Given the description of an element on the screen output the (x, y) to click on. 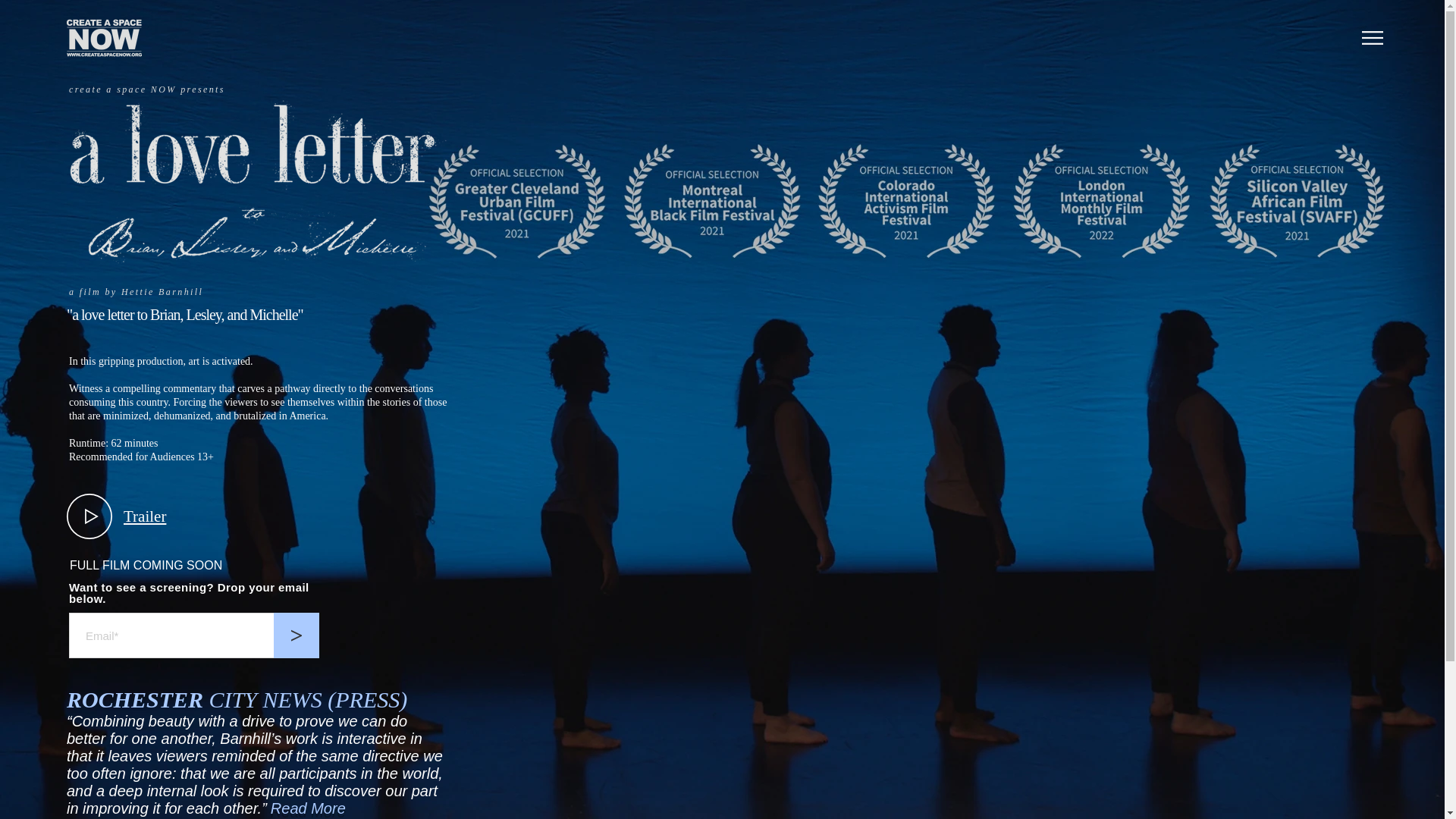
Read More (308, 808)
Trailer (144, 515)
